Given the description of an element on the screen output the (x, y) to click on. 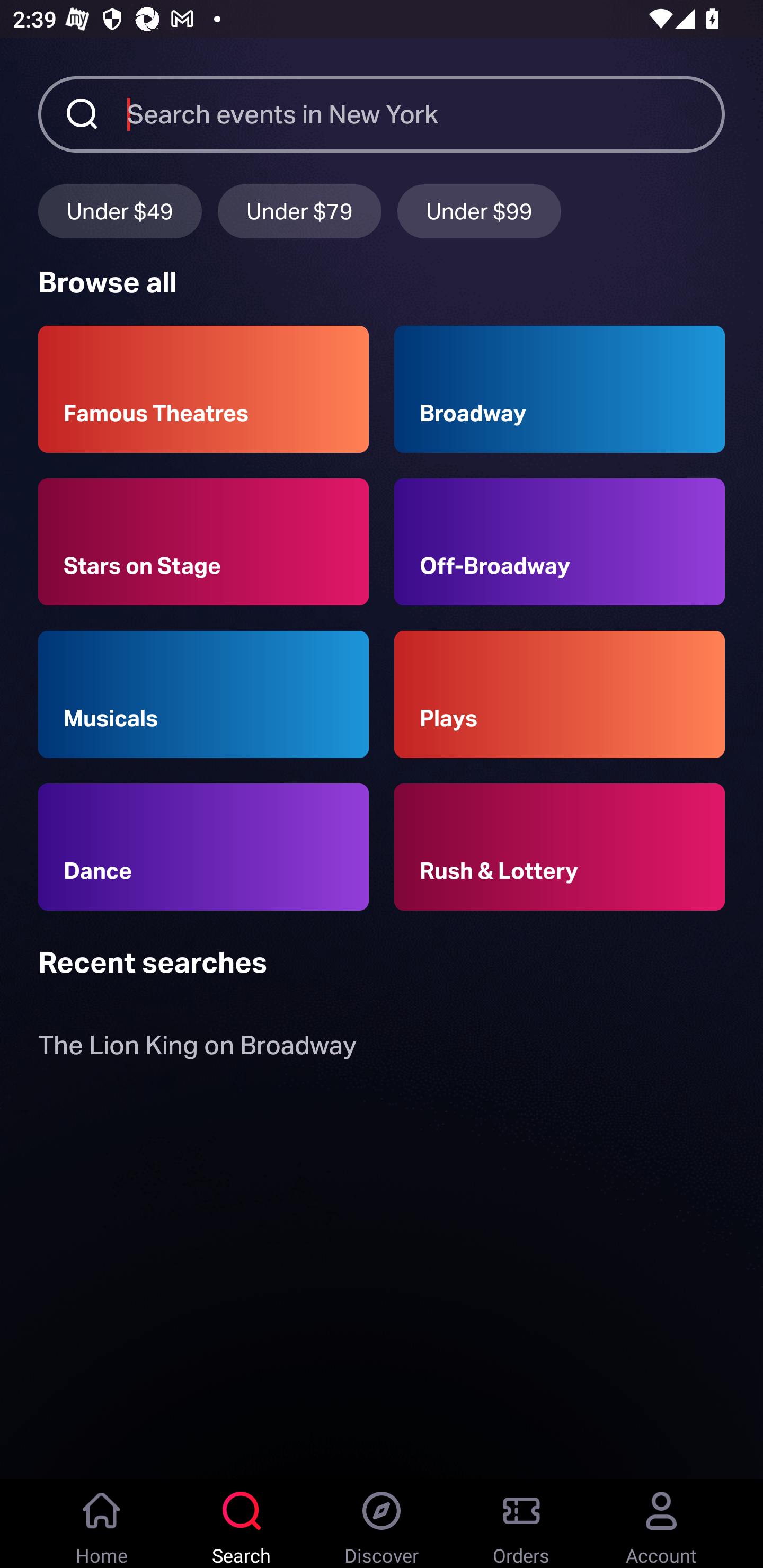
Search events in New York (425, 113)
Under $49 (120, 211)
Under $79 (299, 211)
Under $99 (478, 211)
Famous Theatres (203, 389)
Broadway (559, 389)
Stars on Stage (203, 541)
Off-Broadway (559, 541)
Musicals (203, 693)
Plays (559, 693)
Dance (203, 847)
Rush & Lottery (559, 847)
The Lion King on Broadway (197, 1048)
Home (101, 1523)
Discover (381, 1523)
Orders (521, 1523)
Account (660, 1523)
